Given the description of an element on the screen output the (x, y) to click on. 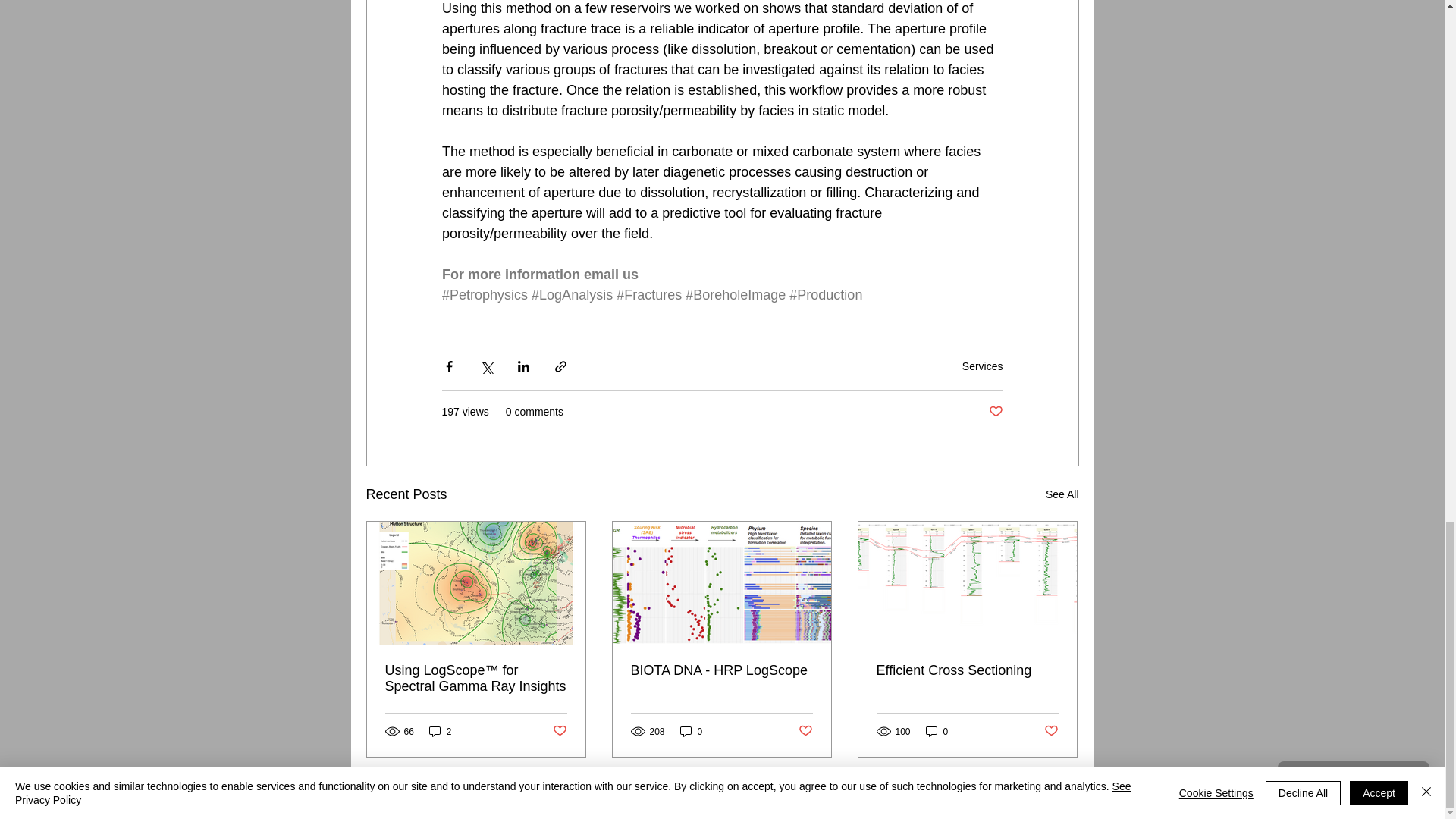
For more information email us  (541, 273)
